Given the description of an element on the screen output the (x, y) to click on. 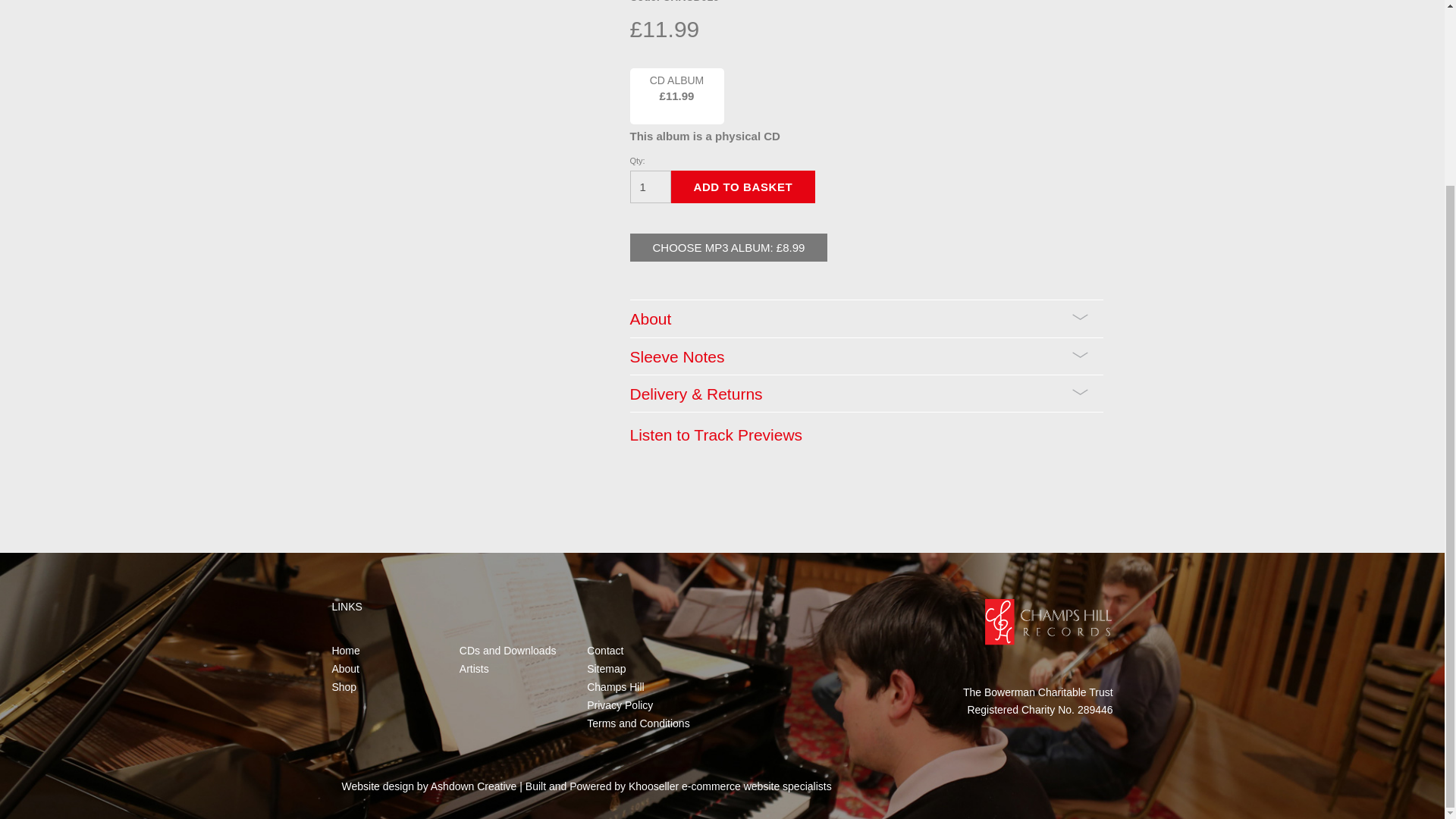
Home (345, 650)
Shop (343, 686)
Contact (604, 650)
Add To Basket (742, 186)
1 (648, 186)
About (865, 317)
Ashdown Creative (473, 786)
CD Album (675, 95)
Artists (474, 668)
CDs and Downloads (508, 650)
Add To Basket (742, 186)
Champs Hill (614, 686)
CDs and Downloads (508, 650)
Sleeve Notes (865, 355)
Privacy Policy (619, 705)
